Given the description of an element on the screen output the (x, y) to click on. 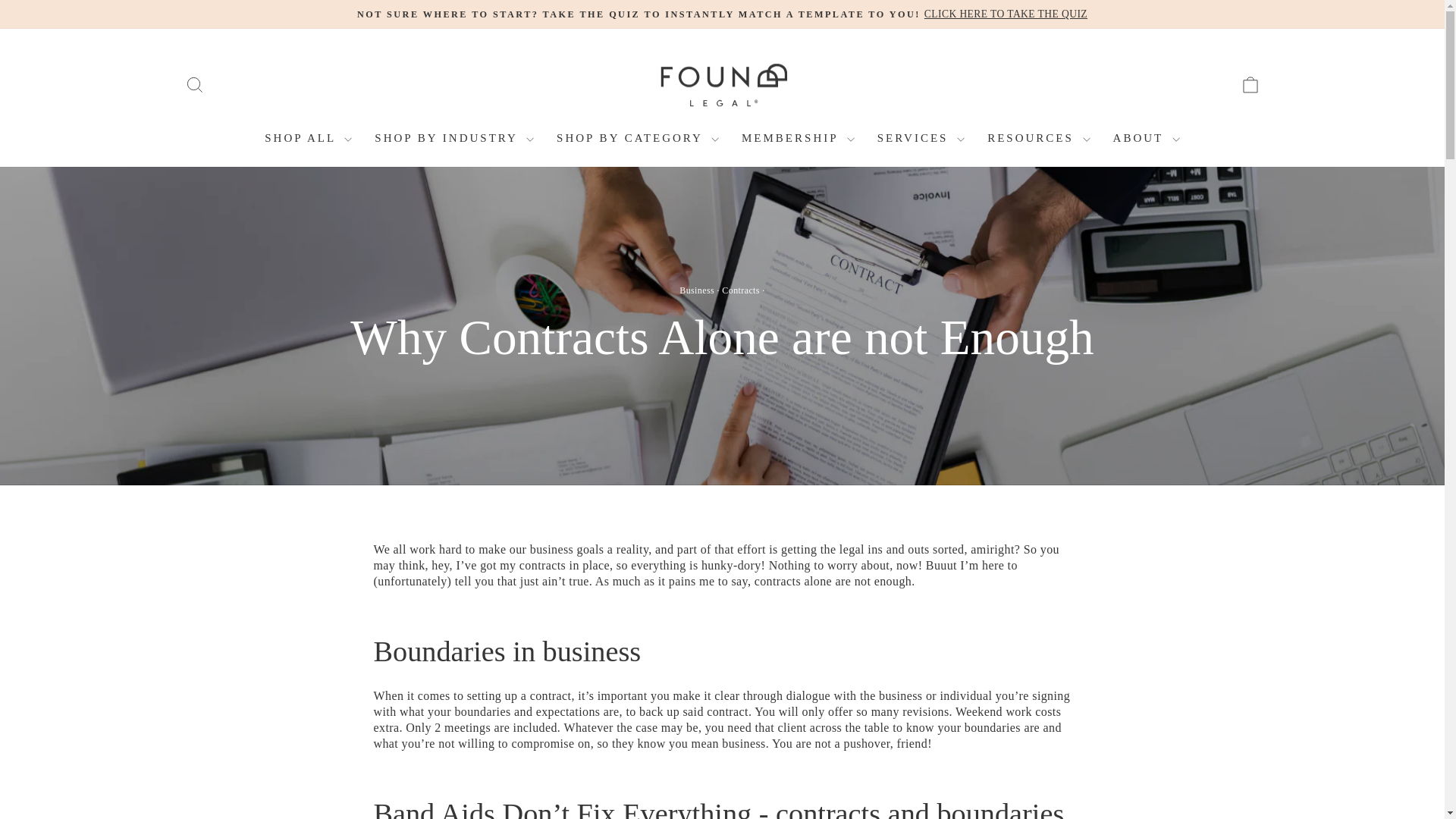
ICON-SEARCH (194, 84)
ICON-BAG-MINIMAL (1249, 84)
